Given the description of an element on the screen output the (x, y) to click on. 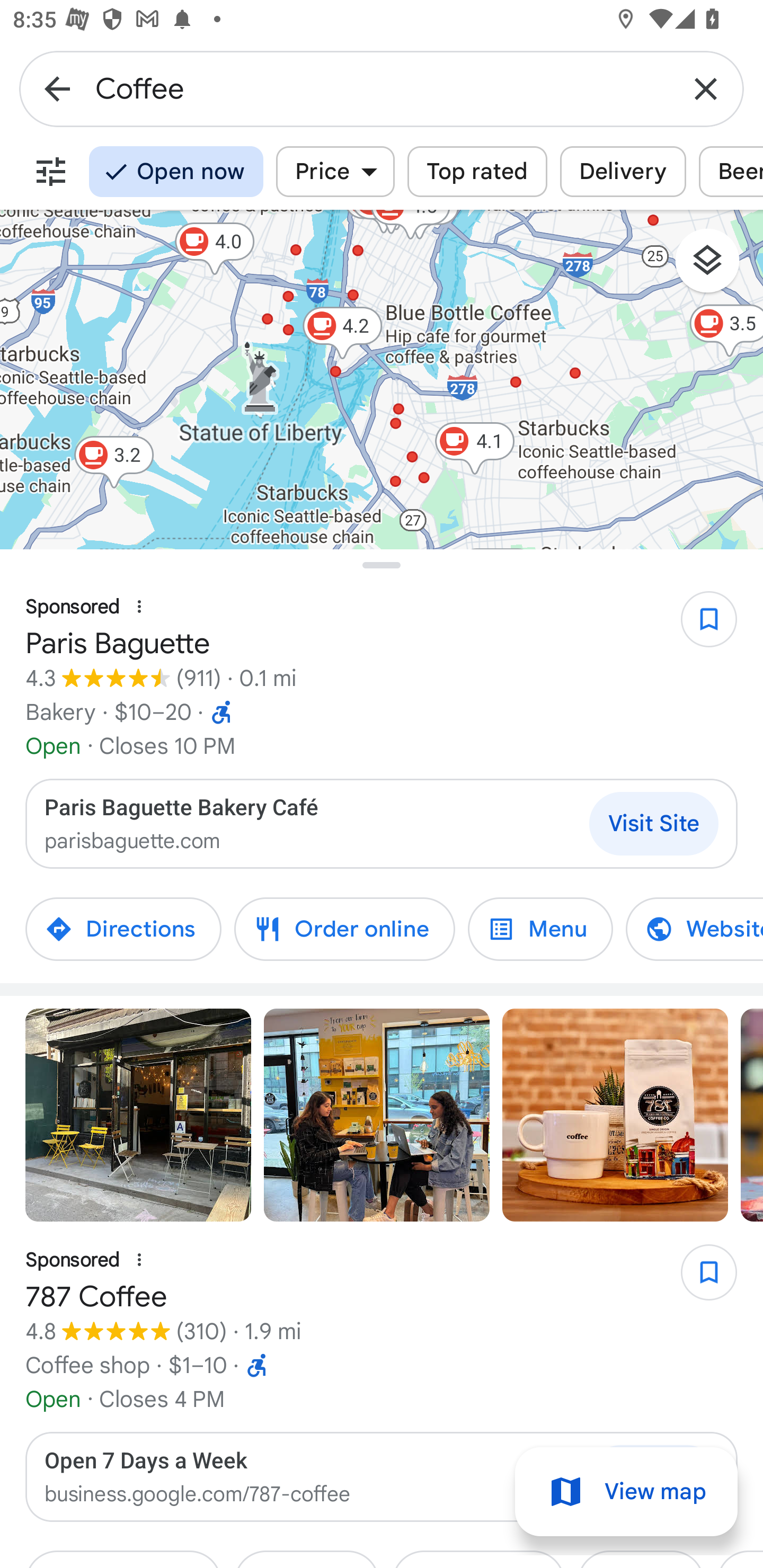
Back (57, 88)
Coffee (381, 88)
Clear (705, 88)
More filters (50, 171)
Open now Open now Open now (176, 171)
Price Price Price (335, 171)
Top rated Top rated Top rated (477, 171)
Delivery Delivery Delivery (622, 171)
Layers (716, 267)
About this ad (139, 606)
Save Paris Baguette to lists (699, 625)
Order online Order online Order online (344, 928)
Paris Baguette Menu Menu Paris Baguette Menu (539, 928)
Website (681, 928)
Photo (138, 1114)
Photo (376, 1114)
Photo (614, 1114)
About this ad (139, 1259)
Save 787 Coffee to lists (699, 1278)
View map Map view (626, 1491)
